Given the description of an element on the screen output the (x, y) to click on. 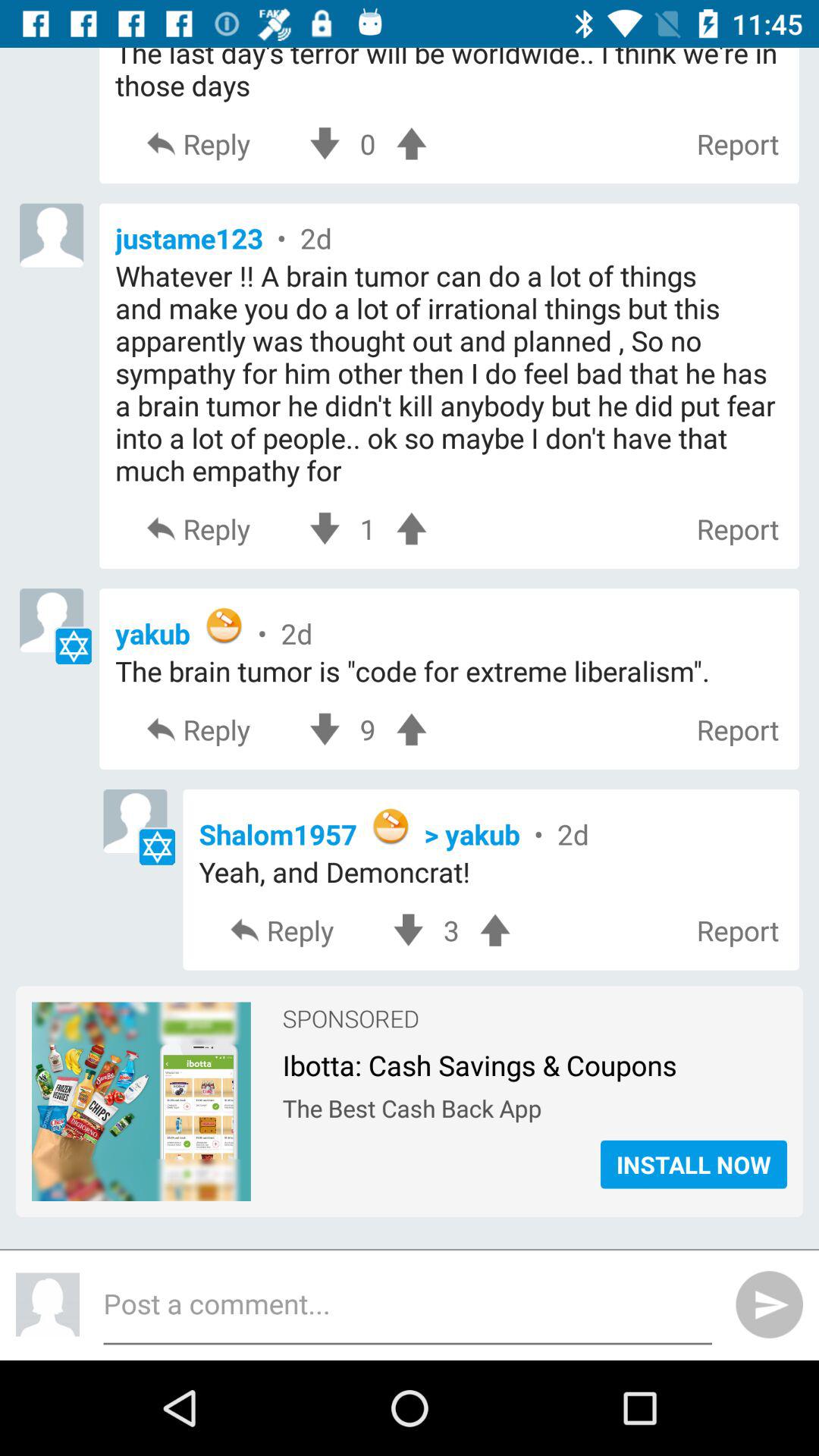
select sponsored icon (350, 1012)
